Given the description of an element on the screen output the (x, y) to click on. 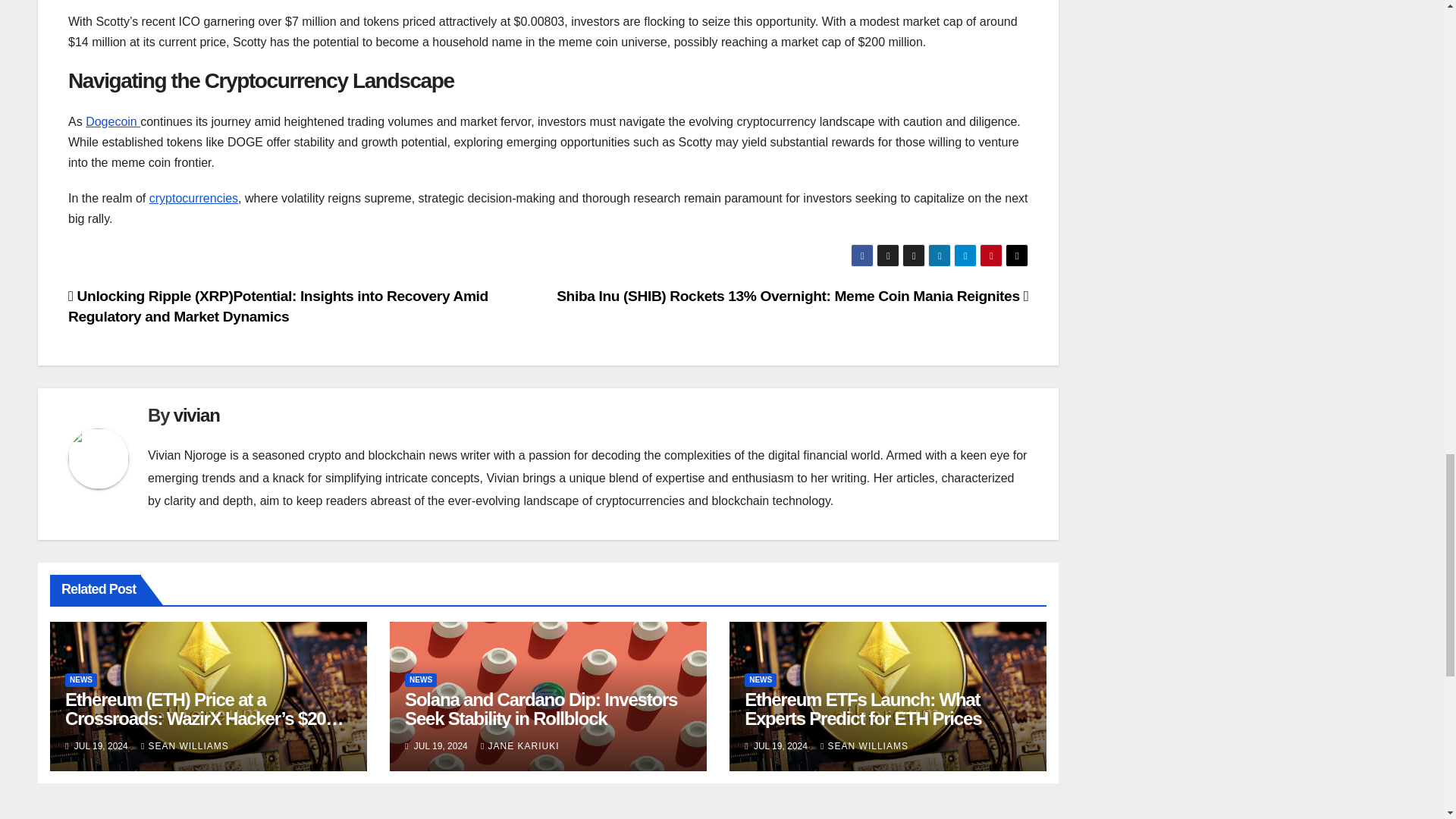
cryptocurrencies (193, 197)
Dogecoin (112, 121)
